Given the description of an element on the screen output the (x, y) to click on. 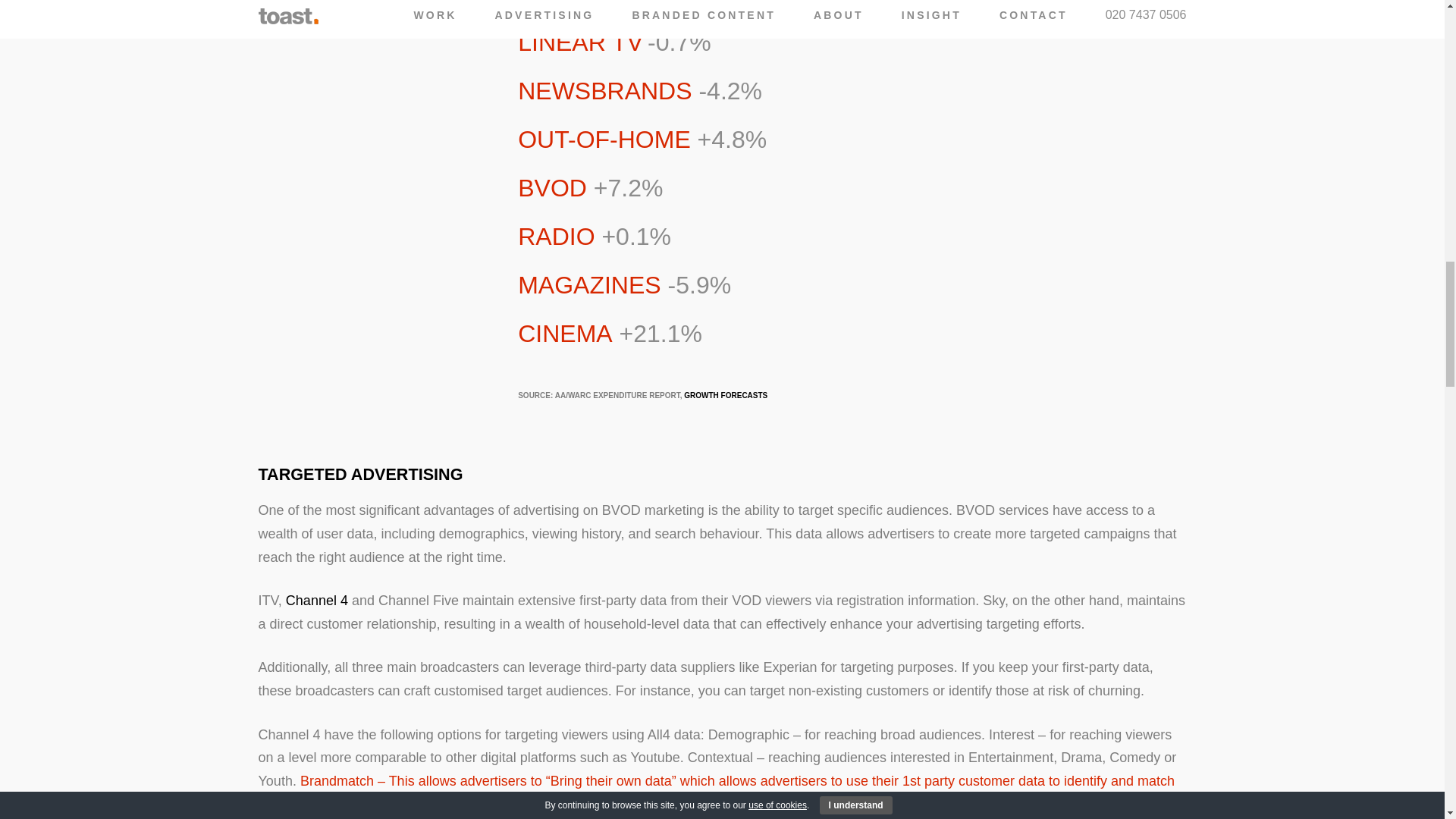
BVOD Growth (725, 395)
GROWTH FORECASTS (725, 395)
